Given the description of an element on the screen output the (x, y) to click on. 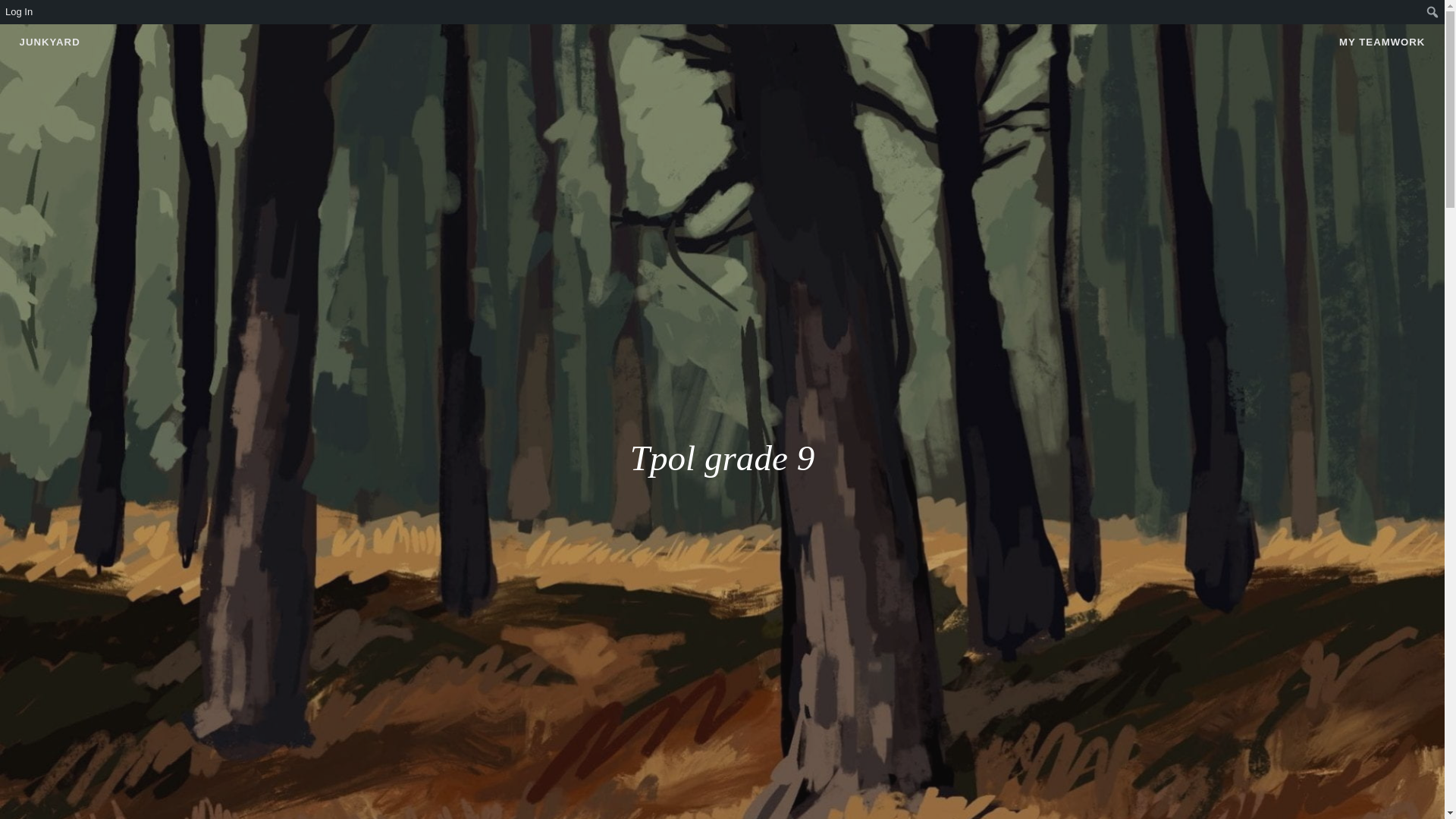
Search (16, 13)
Log In (19, 12)
MY TEAMWORK (1382, 41)
JUNKYARD (50, 41)
